Given the description of an element on the screen output the (x, y) to click on. 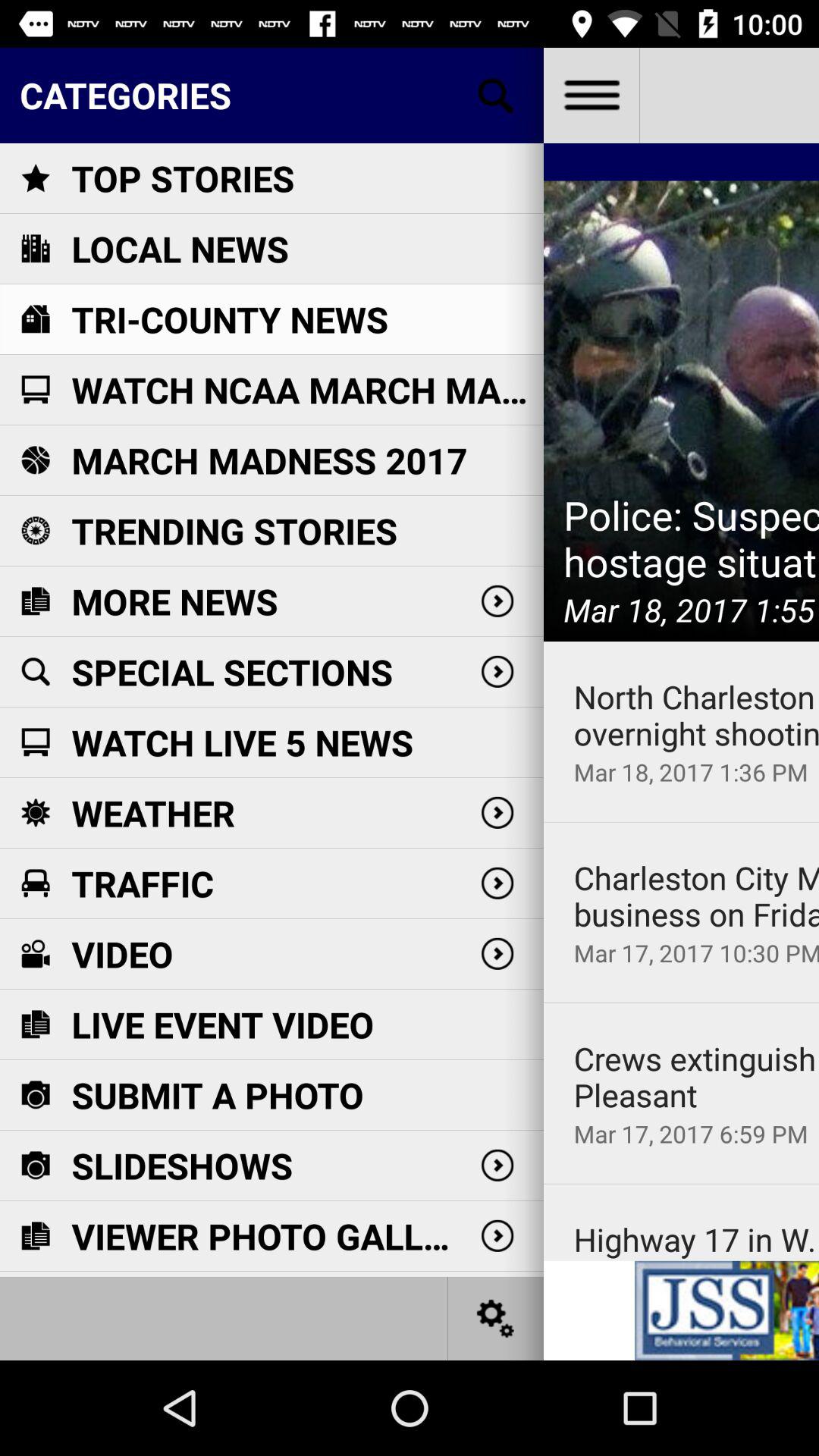
select the icon next to live event video item (681, 1002)
